Given the description of an element on the screen output the (x, y) to click on. 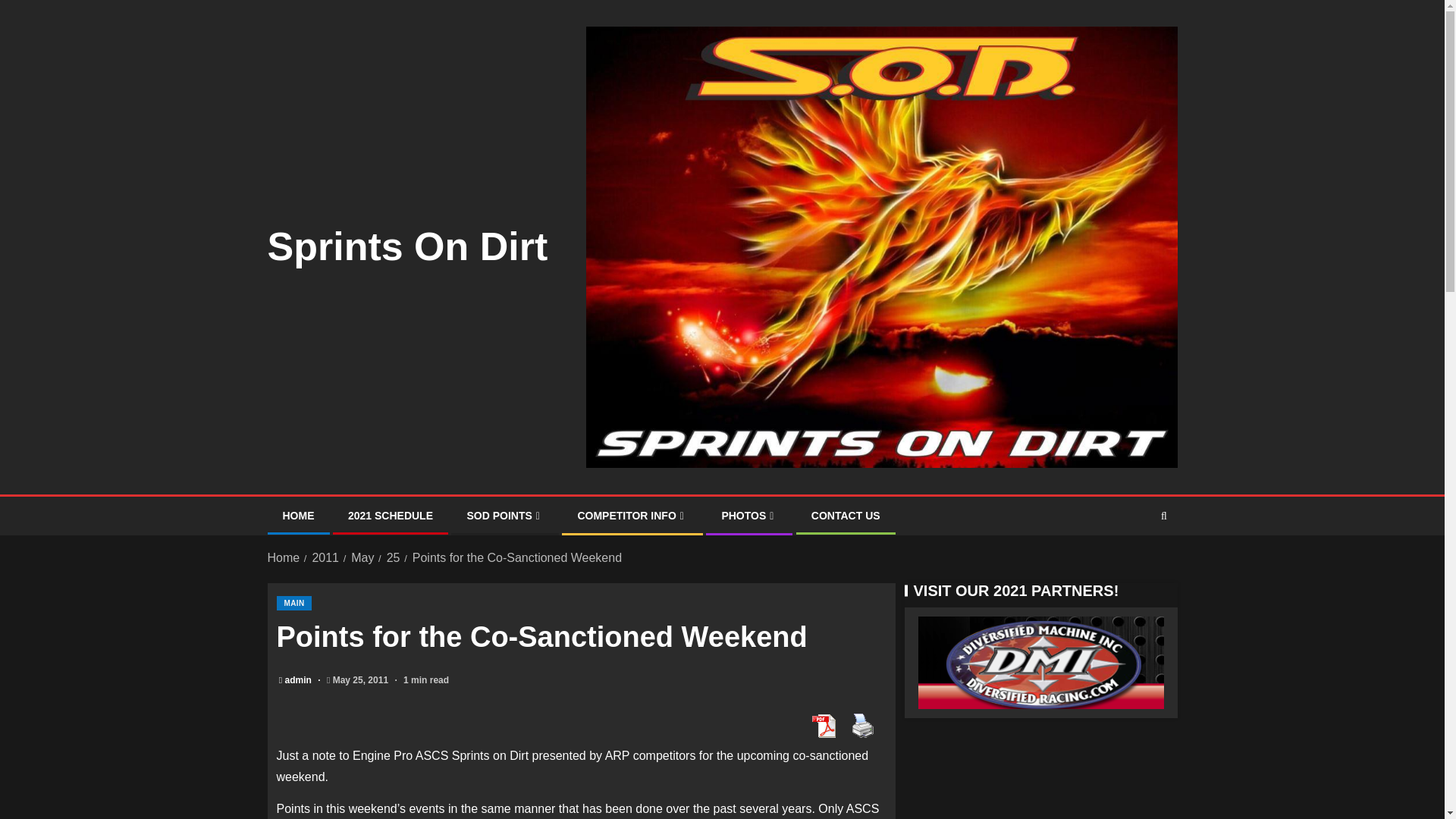
MAIN (293, 603)
DMI-Bulldog Quick Changes (1039, 666)
May (362, 557)
admin (299, 679)
PHOTOS (748, 515)
Print Content (861, 726)
HOME (298, 515)
Points for the Co-Sanctioned Weekend (516, 557)
COMPETITOR INFO (631, 515)
2021 SCHEDULE (389, 515)
Sprints On Dirt (406, 246)
Home (282, 557)
2011 (325, 557)
25 (393, 557)
SOD POINTS (504, 515)
